Given the description of an element on the screen output the (x, y) to click on. 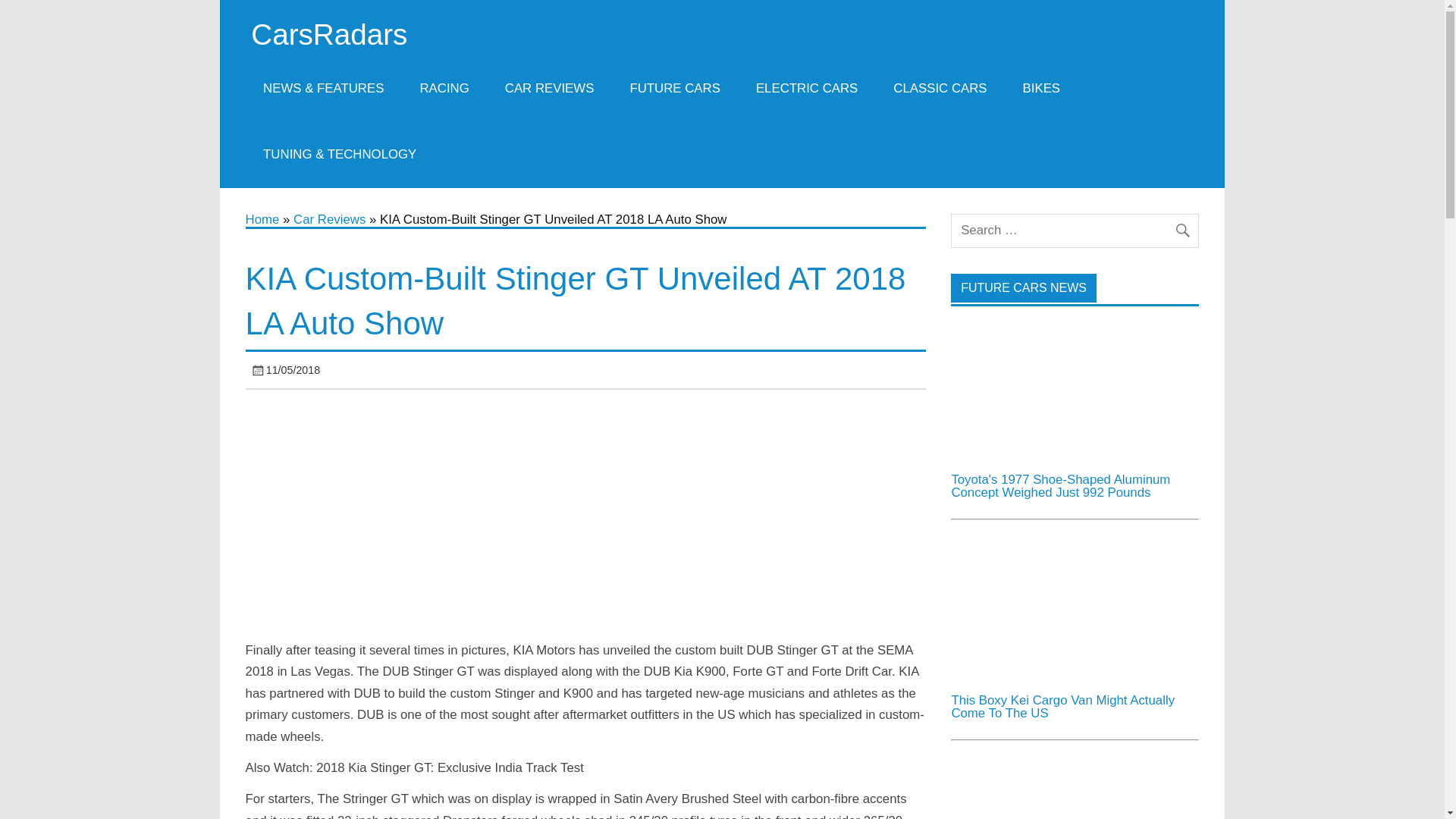
RACING (443, 88)
This Boxy Kei Cargo Van Might Actually Come To The US (1074, 608)
This Boxy Kei Cargo Van Might Actually Come To The US (1062, 706)
CarsRadars (328, 34)
CLASSIC CARS (940, 88)
This Boxy Kei Cargo Van Might Actually Come To The US (1074, 674)
Home (262, 219)
Car Reviews (329, 219)
